Given the description of an element on the screen output the (x, y) to click on. 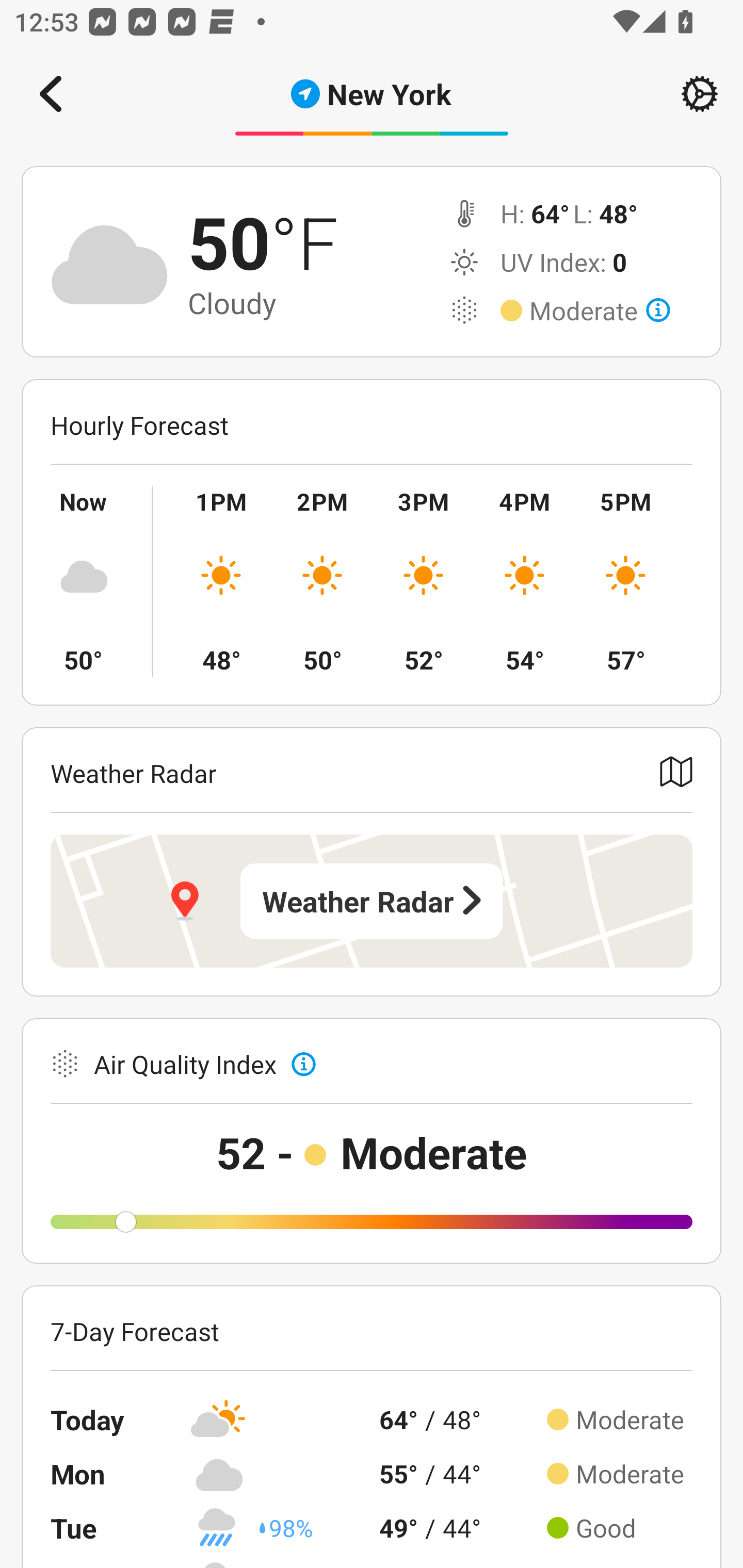
Navigate up (50, 93)
Setting (699, 93)
Moderate (599, 310)
Weather Radar (371, 900)
